Given the description of an element on the screen output the (x, y) to click on. 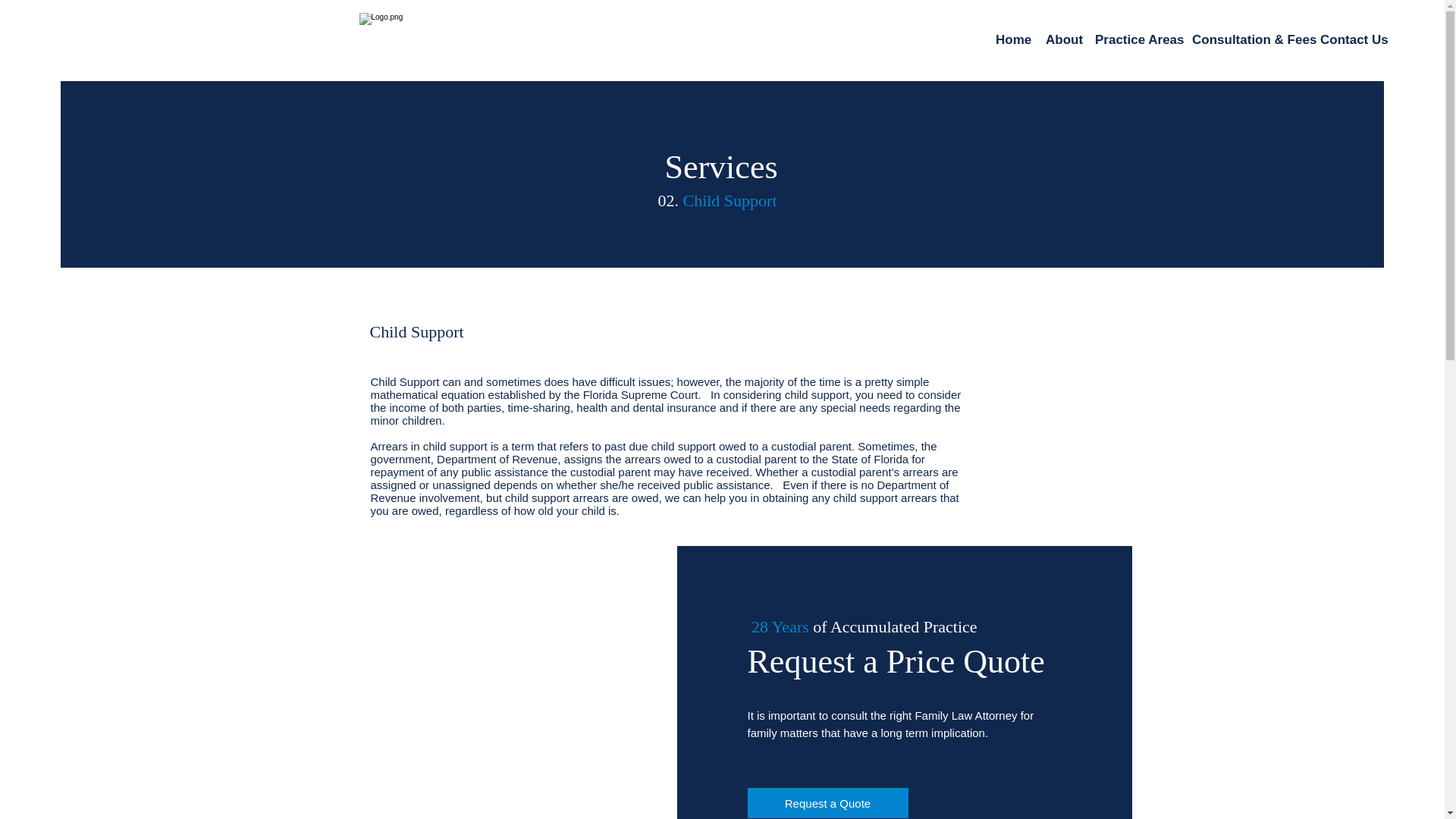
Request a Quote (828, 802)
Home (1013, 40)
Contact Us (1351, 40)
About (1062, 40)
